Given the description of an element on the screen output the (x, y) to click on. 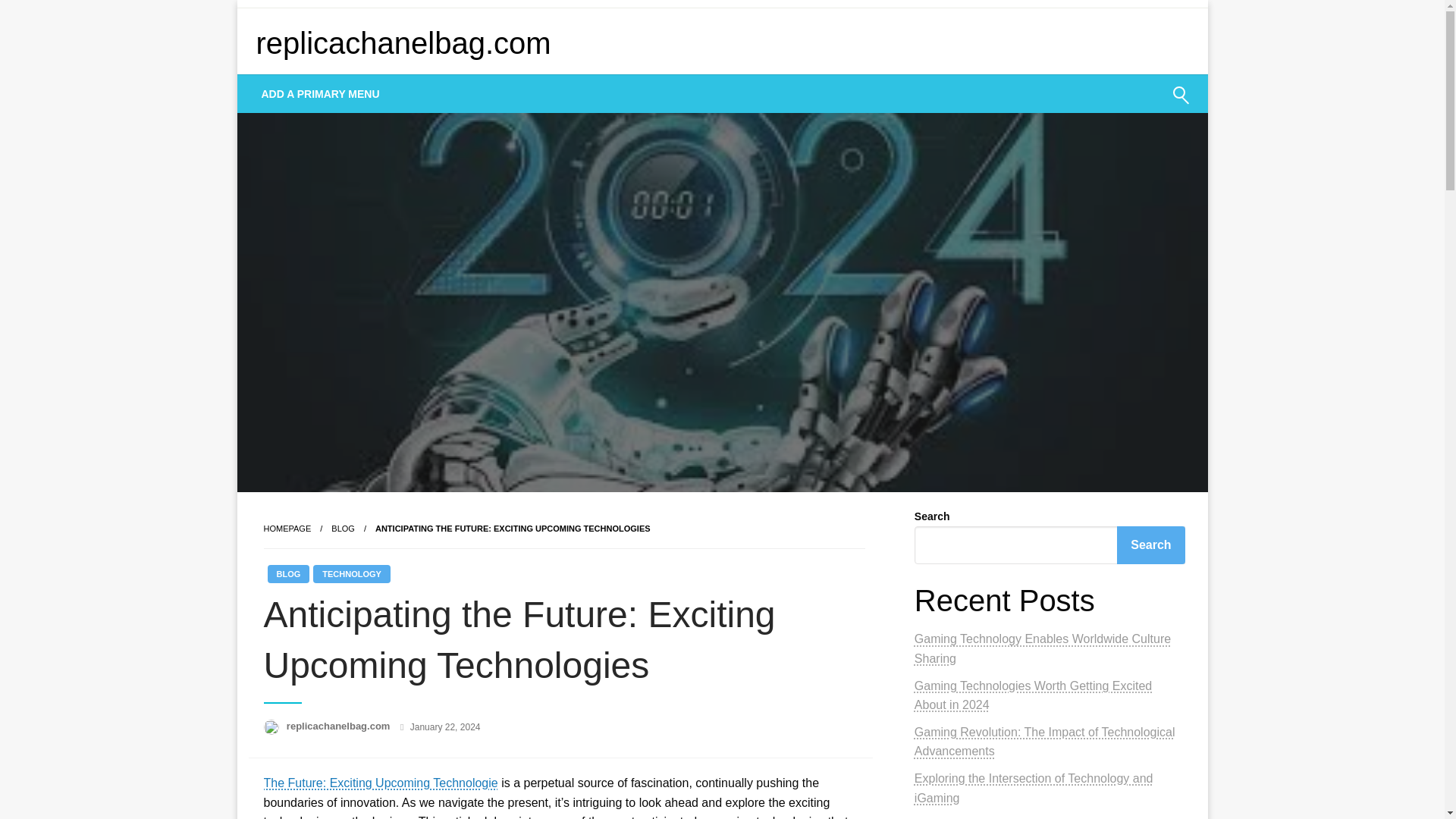
January 22, 2024 (445, 726)
ADD A PRIMARY MENU (320, 94)
replicachanelbag.com (339, 726)
BLOG (287, 574)
Search (1144, 104)
TECHNOLOGY (351, 574)
The Future: Exciting Upcoming Technologie (380, 782)
replicachanelbag.com (403, 42)
Blog (343, 528)
HOMEPAGE (287, 528)
